Given the description of an element on the screen output the (x, y) to click on. 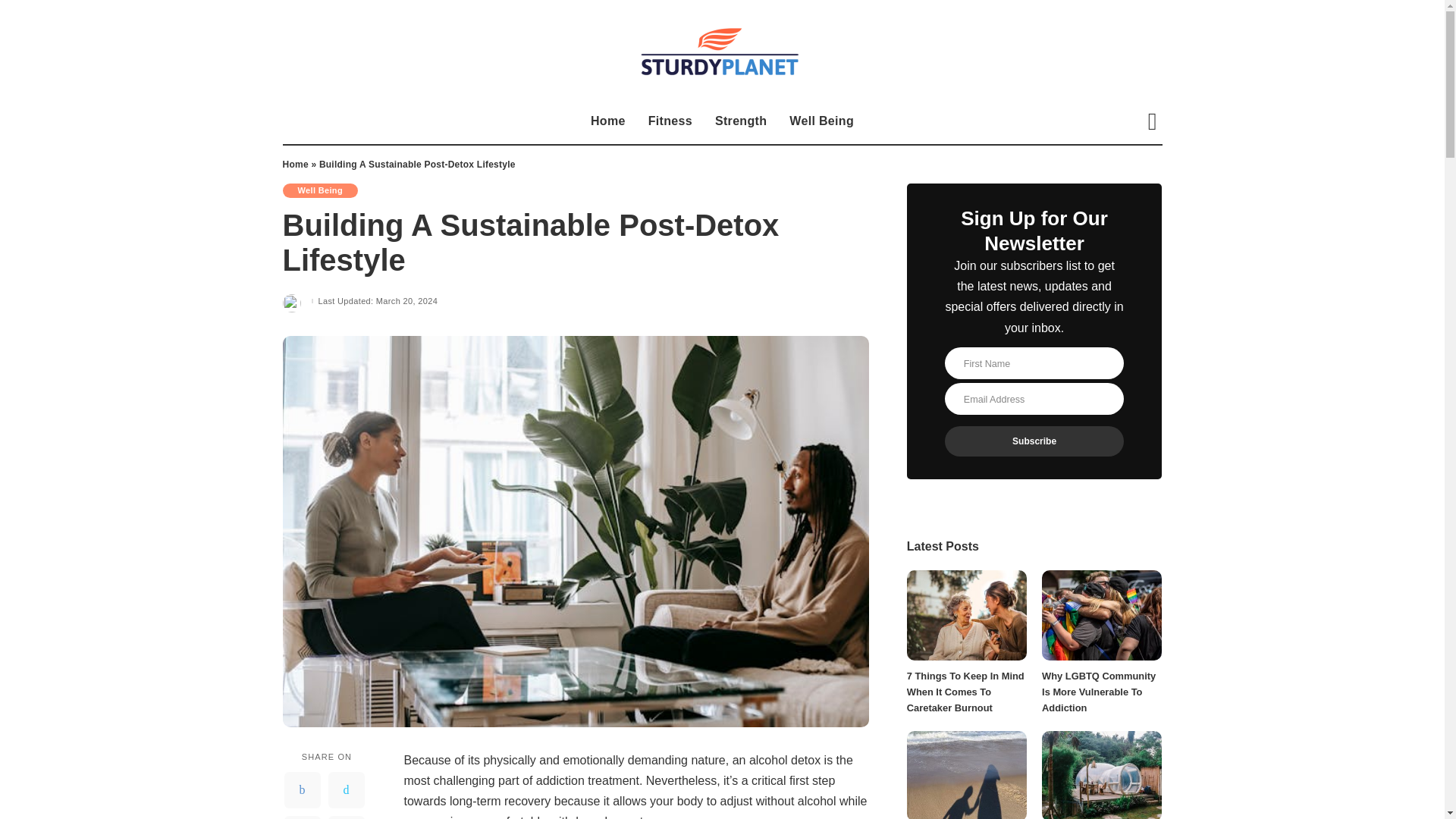
Well Being (820, 121)
Sturdy Planet (721, 49)
Well Being (319, 190)
Email (345, 817)
Search (1140, 166)
Fitness (670, 121)
Strength (740, 121)
Pinterest (301, 817)
Facebook (301, 790)
Subscribe (1034, 440)
Twitter (345, 790)
Home (608, 121)
Home (294, 163)
